Given the description of an element on the screen output the (x, y) to click on. 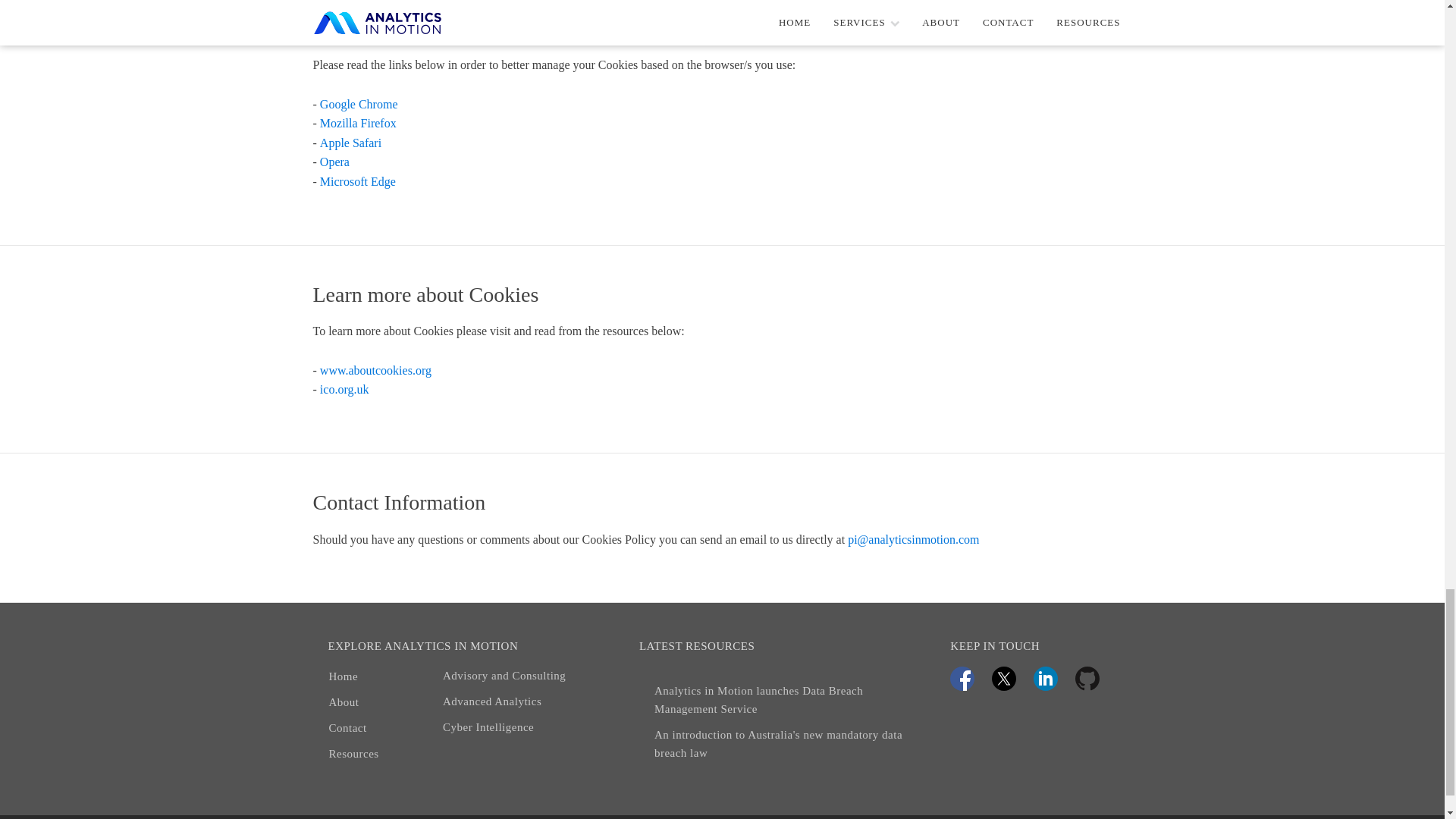
Mozilla Firefox (358, 123)
Apple Safari (350, 143)
Google Chrome (358, 104)
Visit our GitHub Page (1087, 678)
Visit our LinkedIn Page (1045, 678)
Visit us on X (1003, 678)
Visit our Facebook Page (962, 678)
Opera (334, 161)
